Given the description of an element on the screen output the (x, y) to click on. 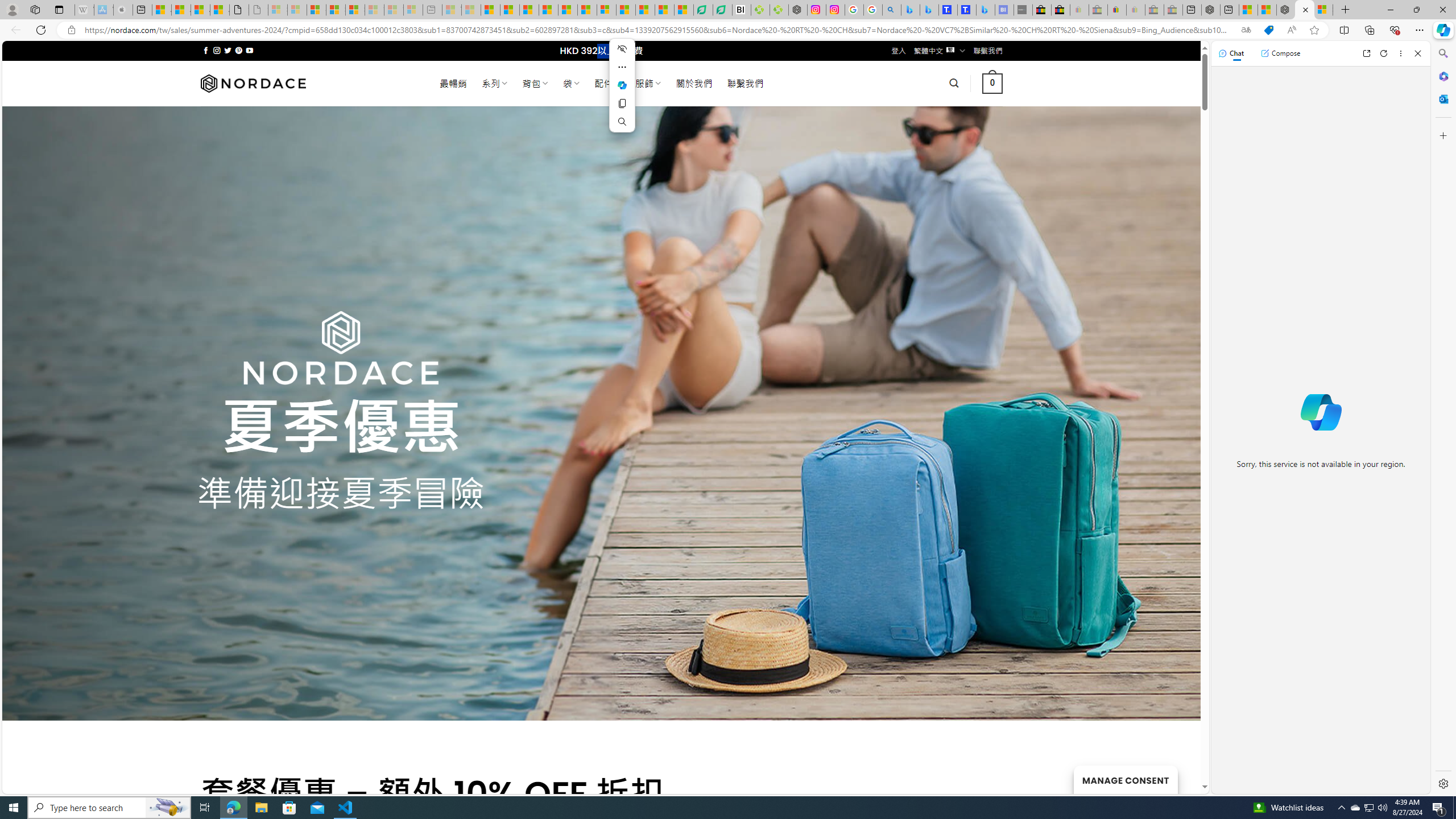
Nvidia va a poner a prueba la paciencia de los inversores (741, 9)
More actions (622, 67)
Nordace (252, 83)
LendingTree - Compare Lenders (721, 9)
alabama high school quarterback dies - Search (891, 9)
Follow on Pinterest (237, 50)
US Heat Deaths Soared To Record High Last Year (625, 9)
Mini menu on text selection (622, 84)
